Given the description of an element on the screen output the (x, y) to click on. 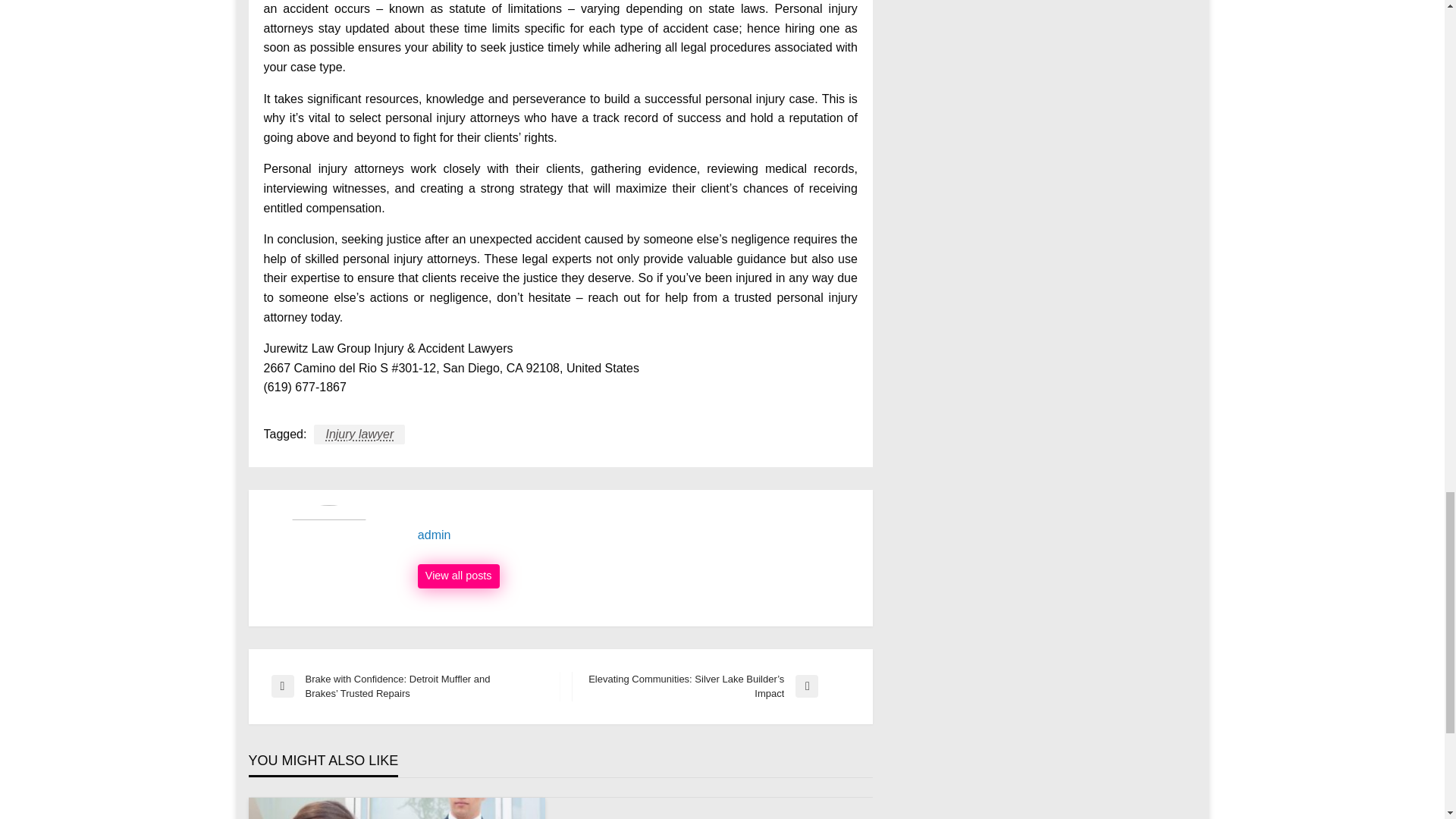
admin (458, 576)
View all posts (458, 576)
admin (637, 534)
admin (637, 534)
Injury lawyer (359, 434)
